Given the description of an element on the screen output the (x, y) to click on. 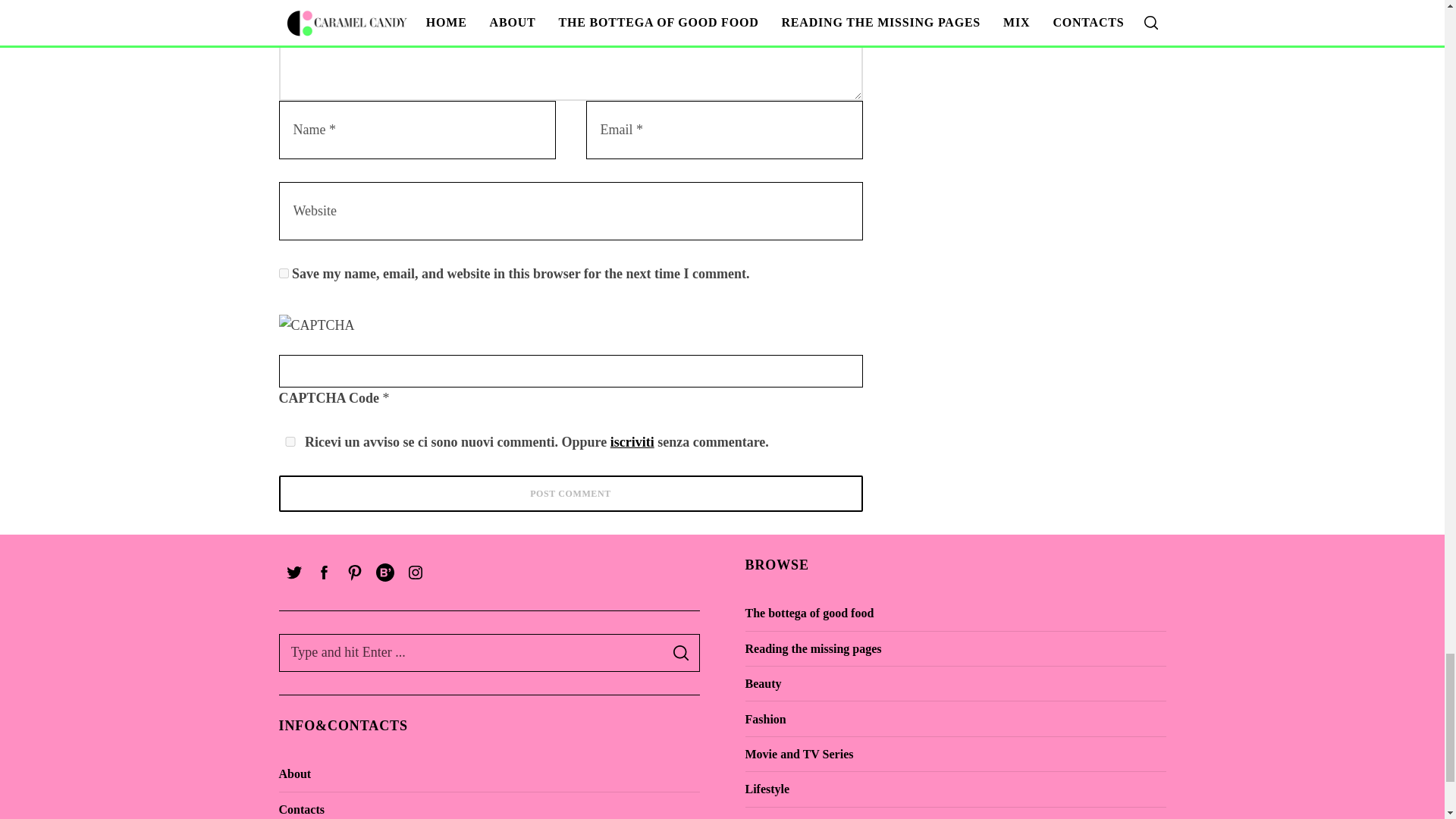
yes (283, 273)
yes (290, 441)
Post Comment (571, 493)
Refresh (387, 324)
CAPTCHA (328, 330)
